Given the description of an element on the screen output the (x, y) to click on. 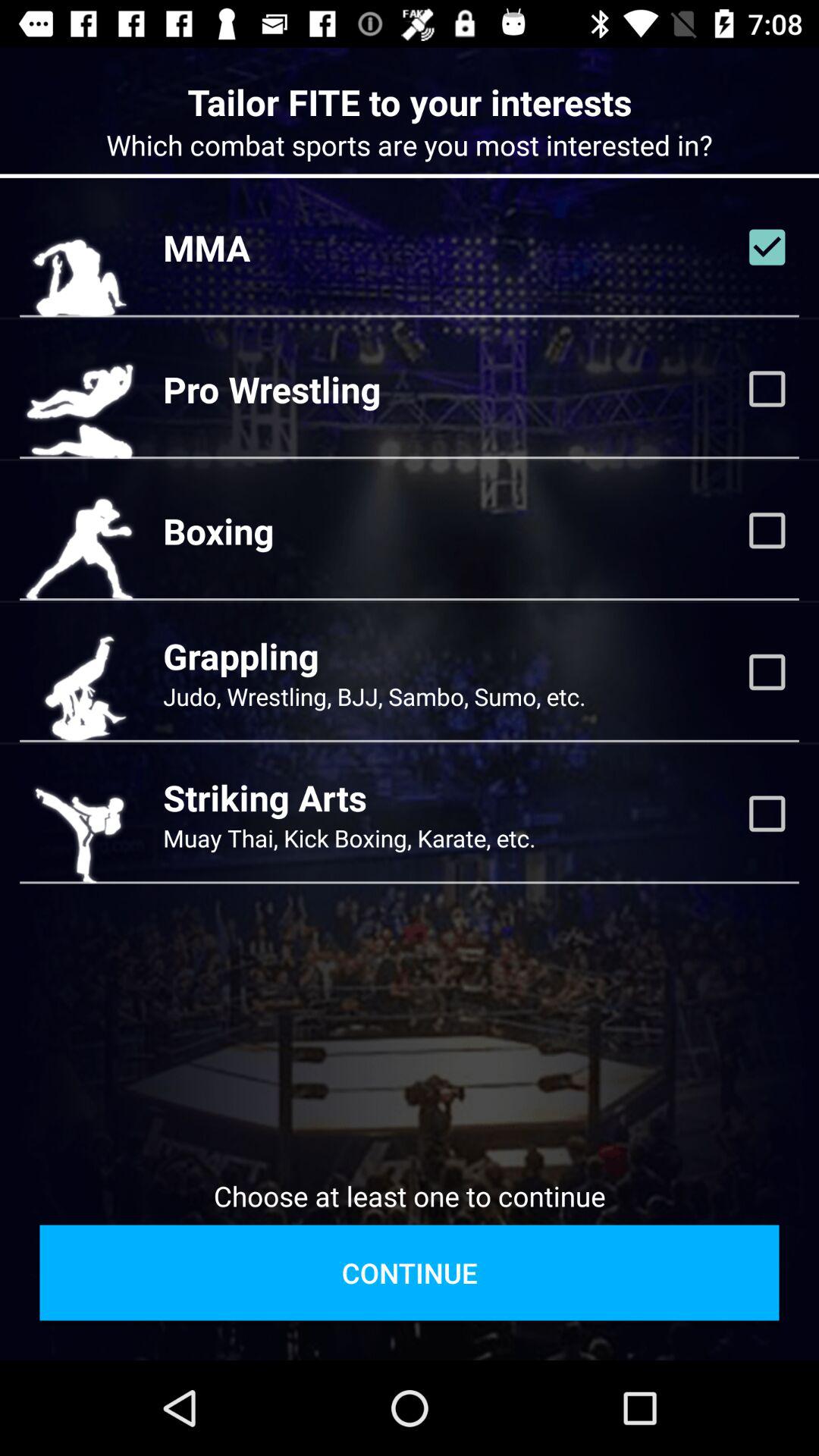
jump to mma item (206, 247)
